Given the description of an element on the screen output the (x, y) to click on. 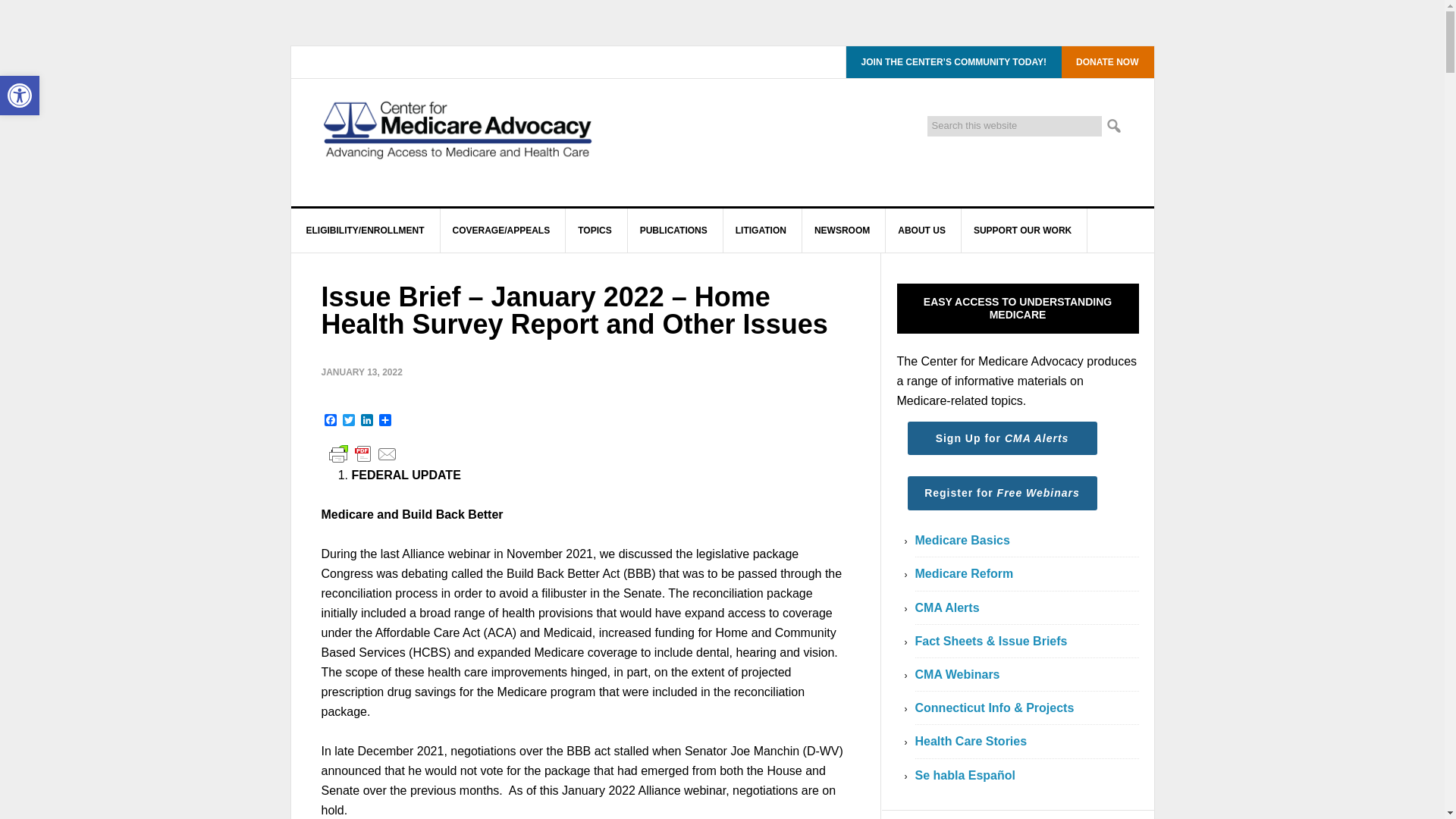
DONATE NOW (1106, 61)
Accessibility Tools (19, 95)
Twitter (348, 421)
CENTER FOR MEDICARE ADVOCACY (457, 142)
Accessibility Tools (19, 95)
TOPICS (594, 230)
Facebook (330, 421)
LinkedIn (366, 421)
